Given the description of an element on the screen output the (x, y) to click on. 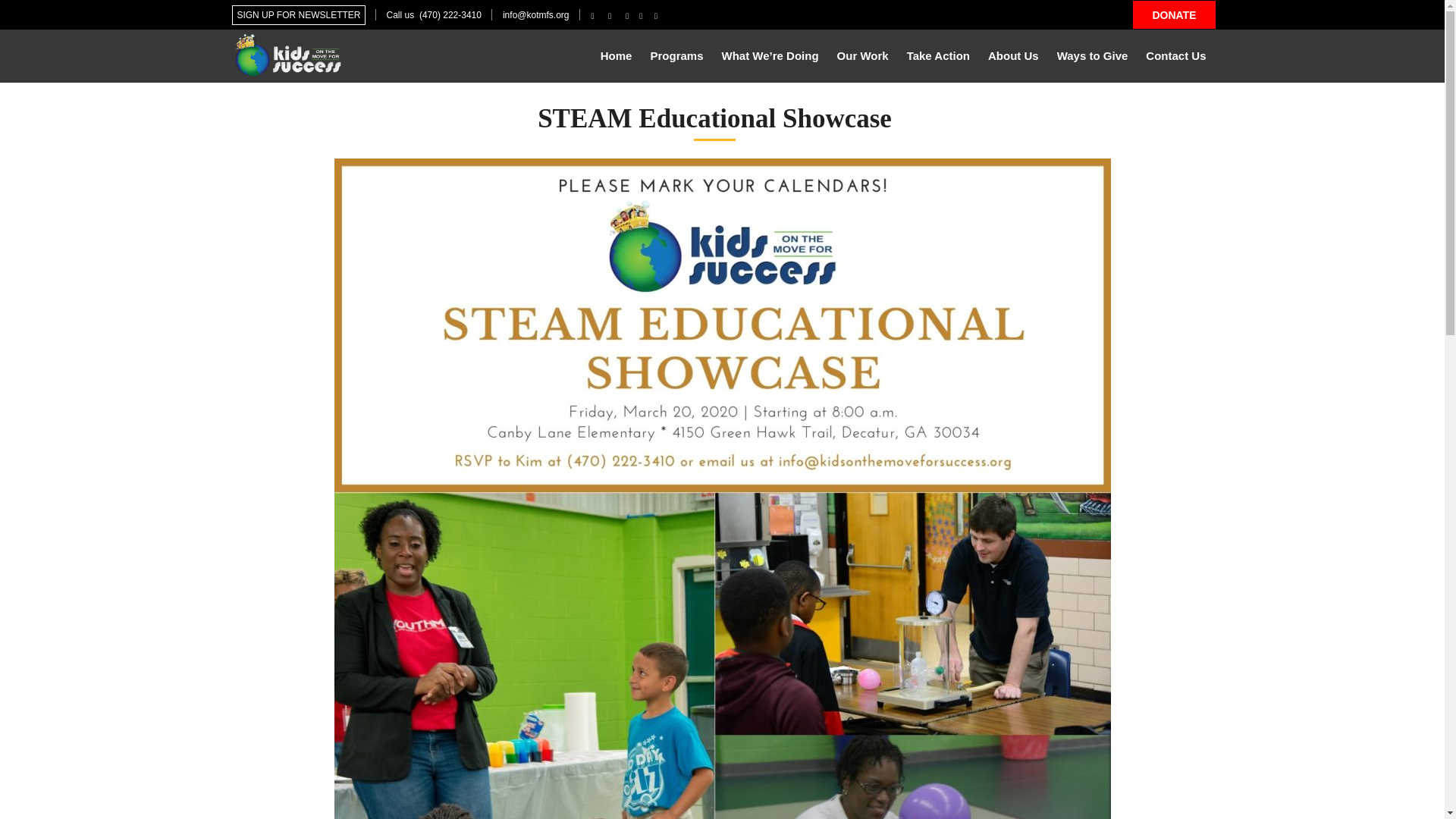
DONATE (1173, 14)
SIGN UP FOR NEWSLETTER (298, 14)
Programs (675, 55)
Home (616, 55)
